Given the description of an element on the screen output the (x, y) to click on. 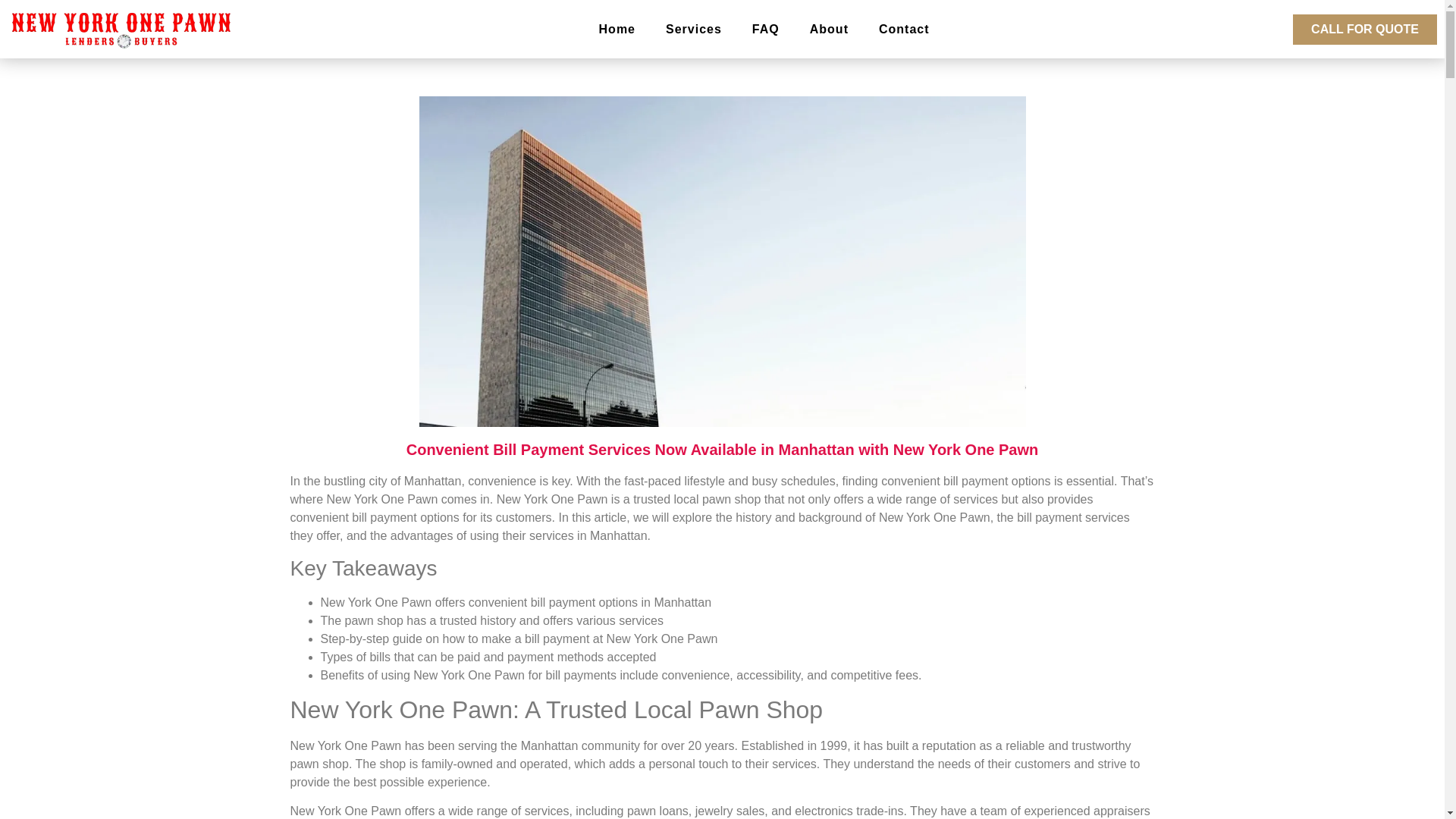
About (828, 29)
Services (693, 29)
Home (616, 29)
FAQ (765, 29)
